Given the description of an element on the screen output the (x, y) to click on. 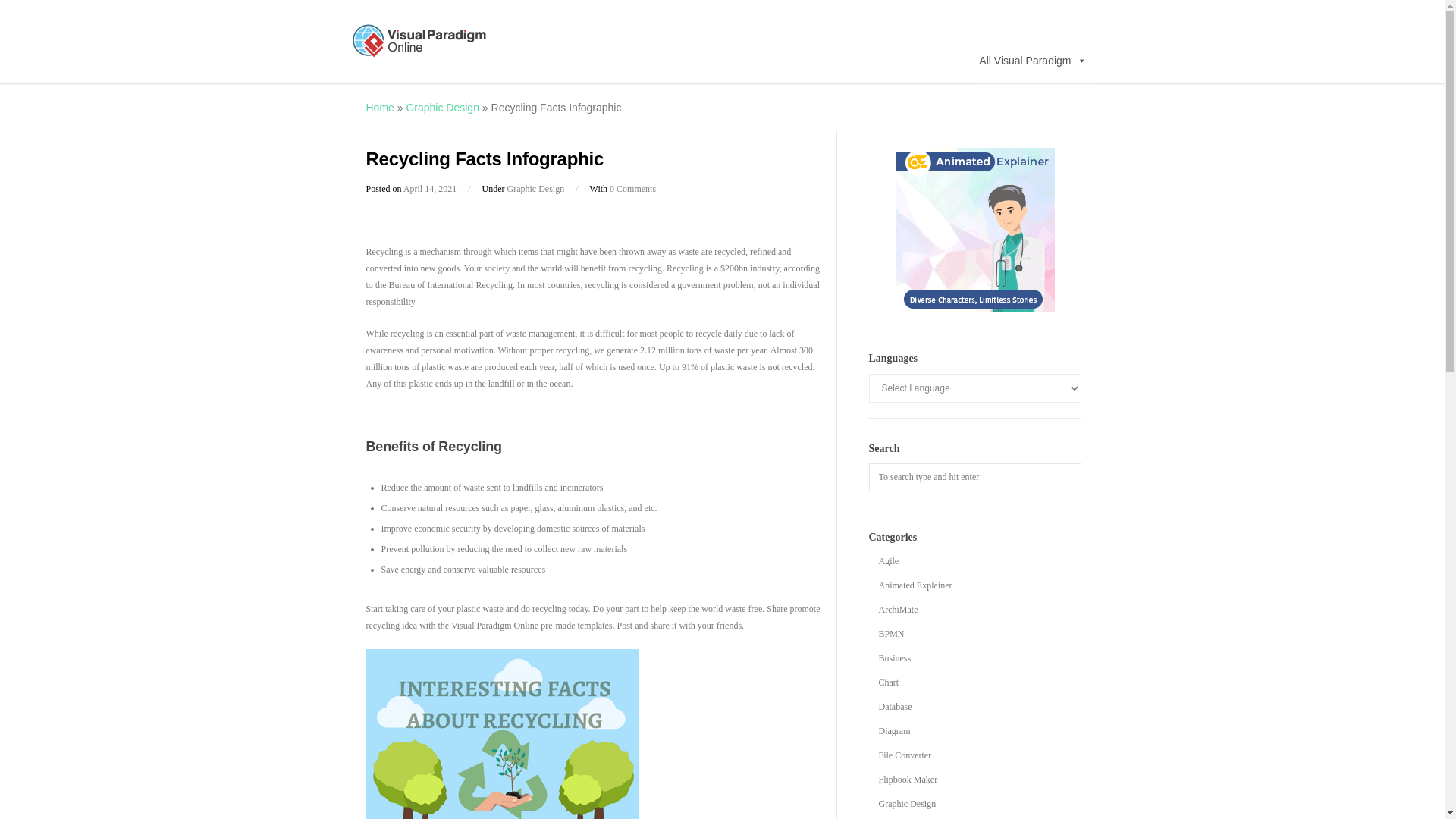
All Visual Paradigm (1032, 60)
Visual Paradigm Blog (420, 51)
